Given the description of an element on the screen output the (x, y) to click on. 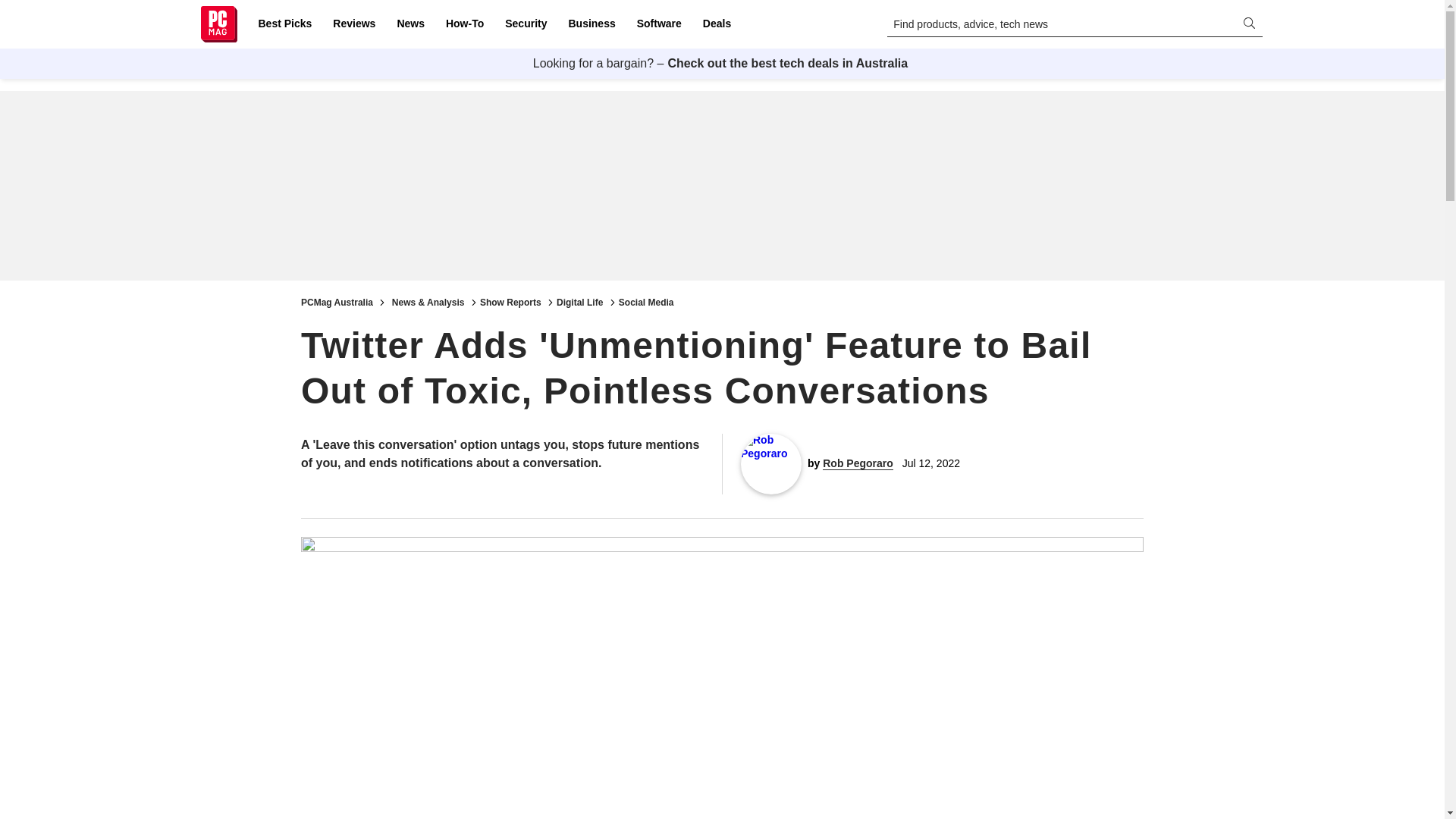
Best Picks (284, 24)
Security (526, 24)
How-To (464, 24)
Business (591, 24)
Reviews (353, 24)
